Given the description of an element on the screen output the (x, y) to click on. 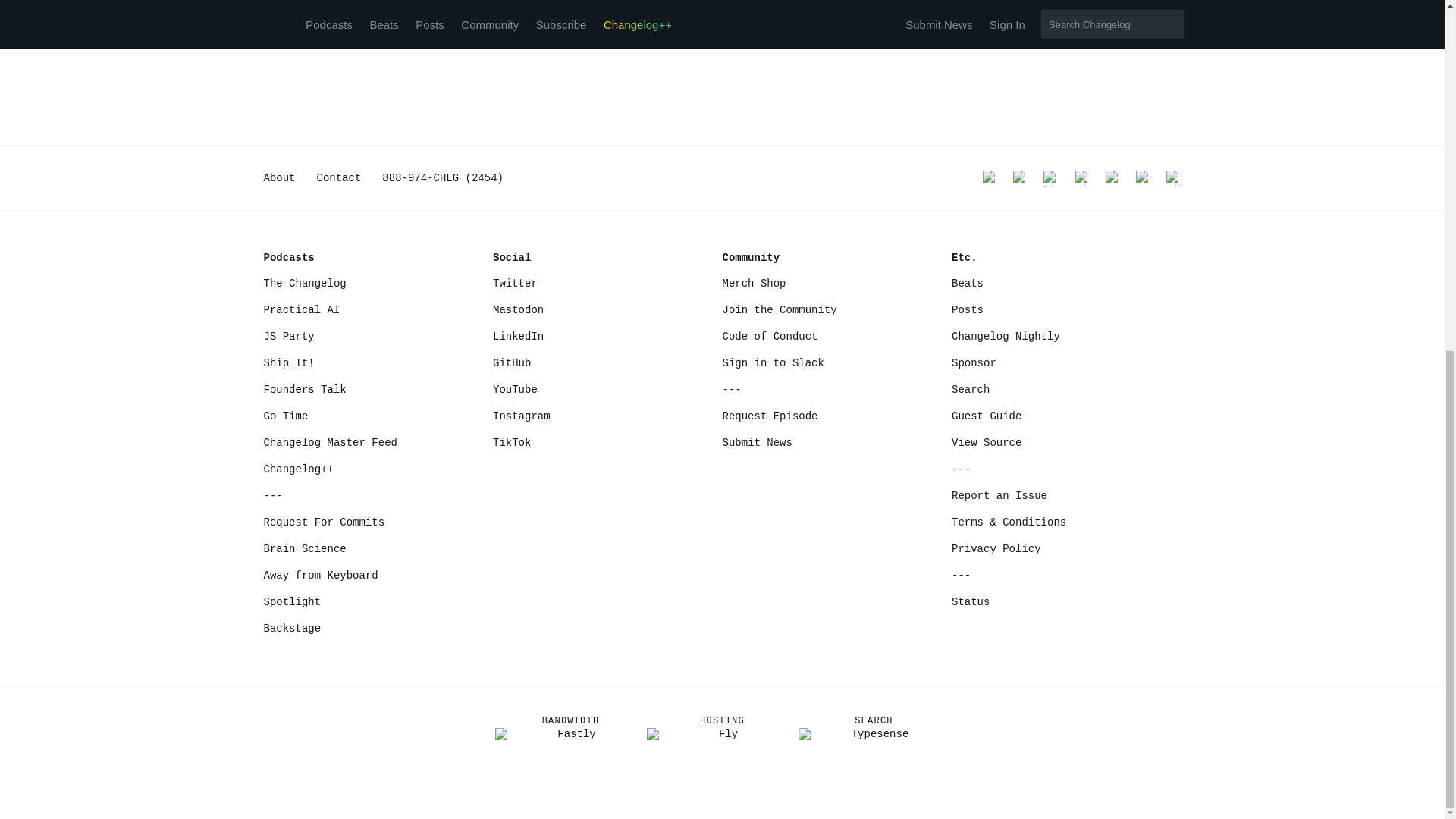
Contact (339, 177)
About (279, 177)
